Given the description of an element on the screen output the (x, y) to click on. 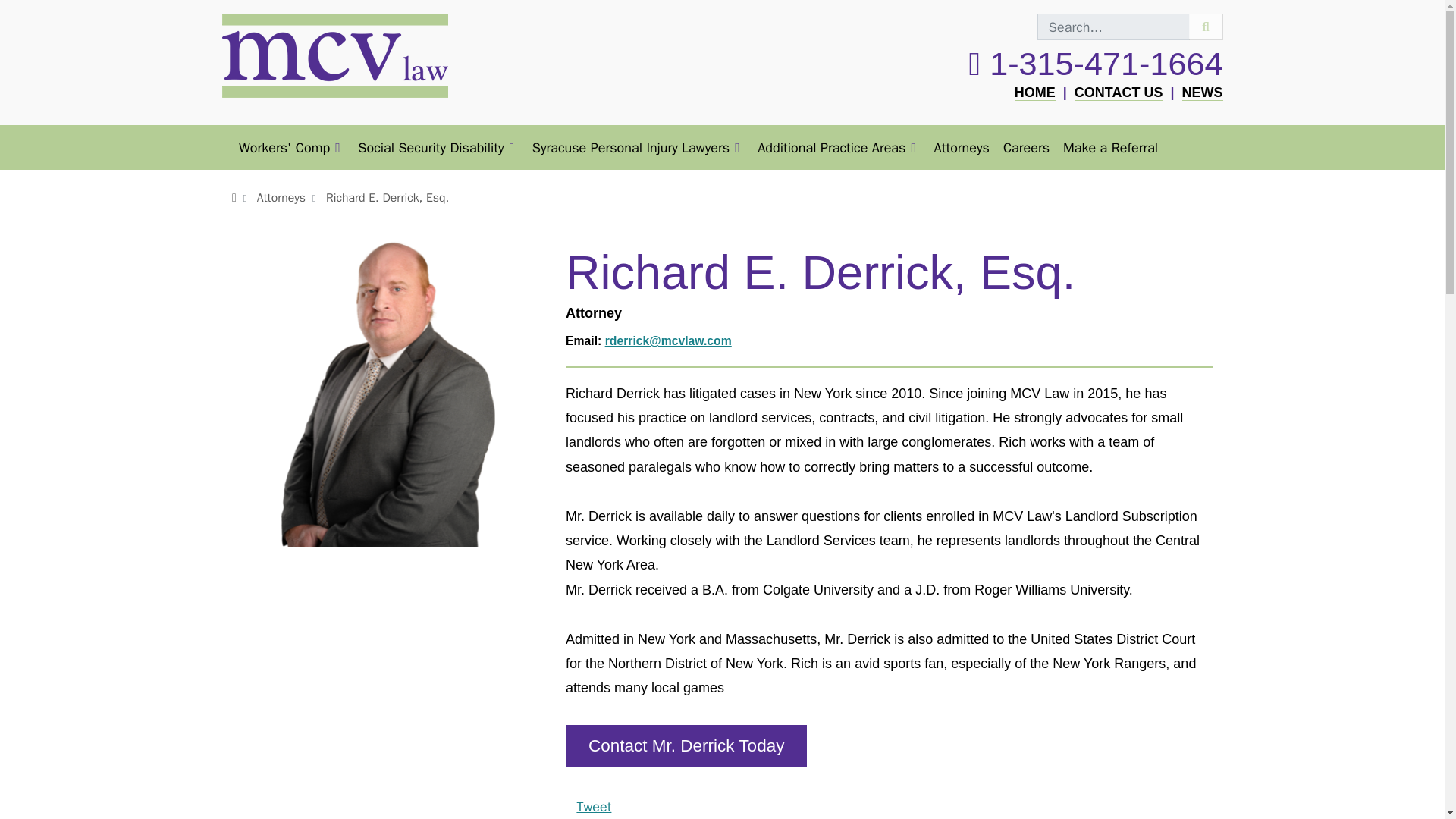
Contact Us (686, 745)
1-315-471-1664 (1095, 63)
Blog (1201, 92)
Contact Us (1118, 92)
Social Security Disability (437, 147)
HOME (1034, 92)
MCV Law (1034, 92)
NEWS (1201, 92)
Workers' Comp (290, 147)
Syracuse Personal Injury Lawyers (638, 147)
